Given the description of an element on the screen output the (x, y) to click on. 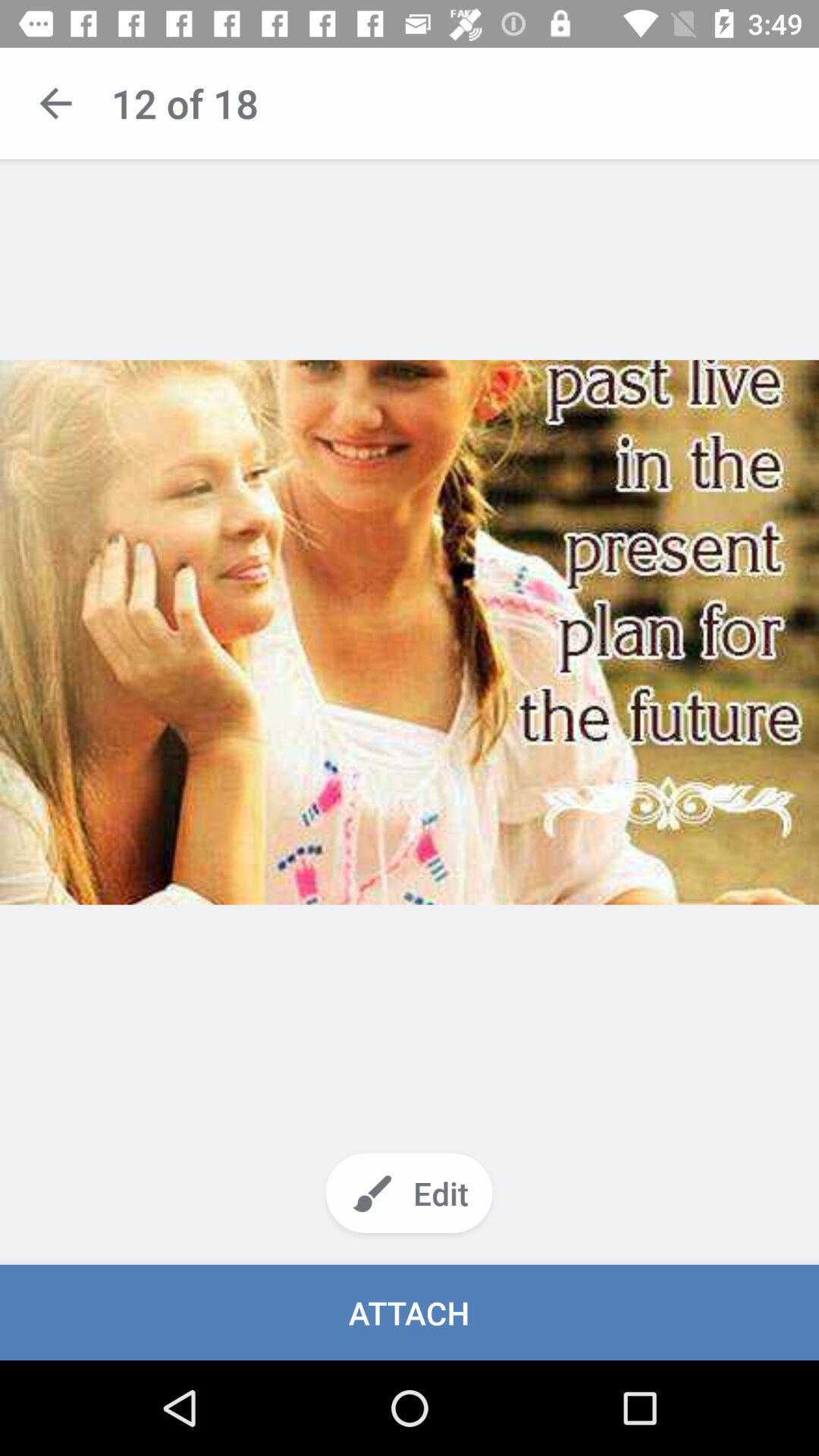
turn on icon to the left of the 12 of 18 icon (55, 103)
